Given the description of an element on the screen output the (x, y) to click on. 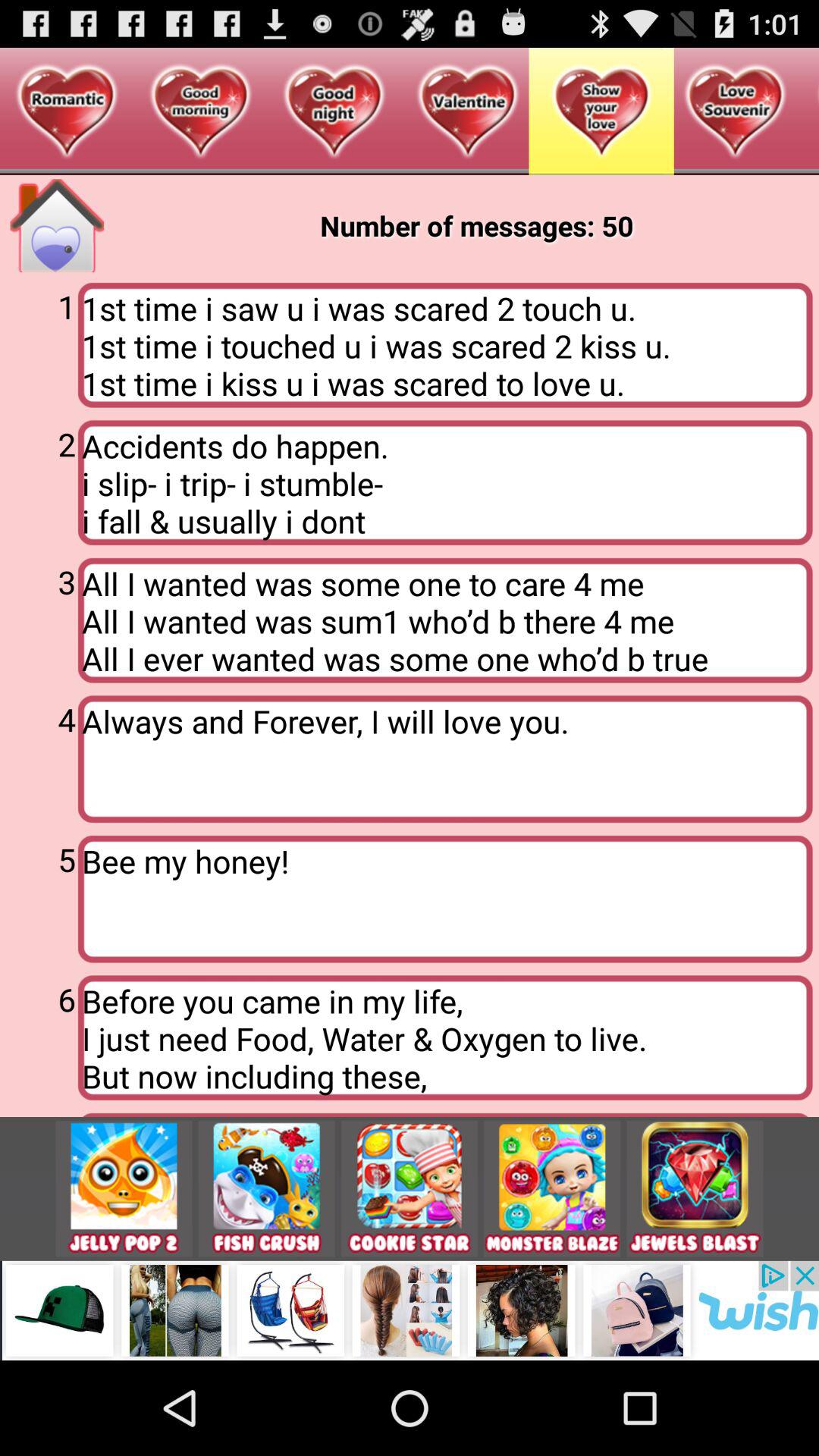
play cookie star game (409, 1188)
